Given the description of an element on the screen output the (x, y) to click on. 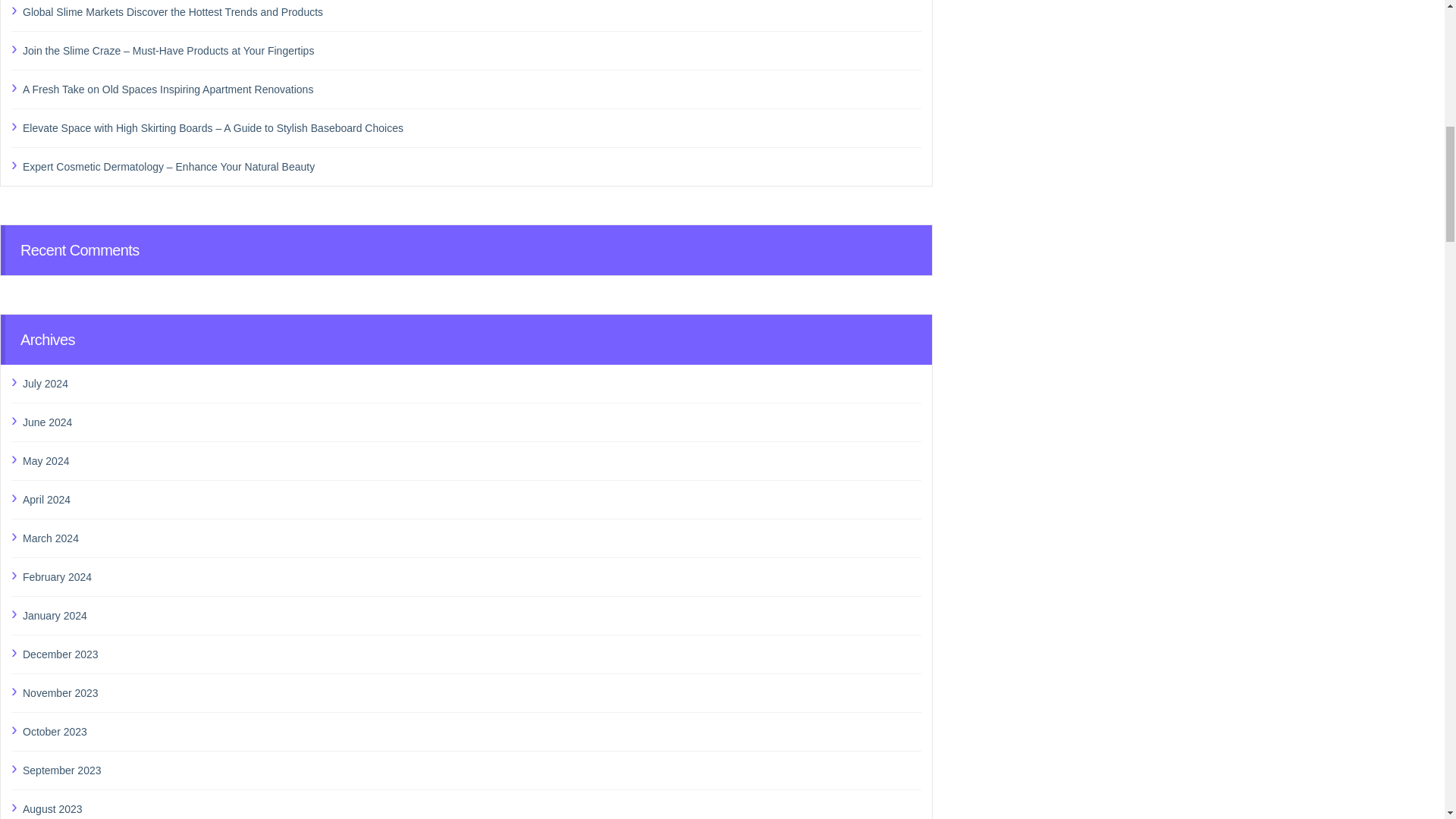
January 2024 (472, 615)
March 2024 (472, 537)
February 2024 (472, 577)
November 2023 (472, 692)
June 2024 (472, 422)
A Fresh Take on Old Spaces Inspiring Apartment Renovations (472, 89)
August 2023 (472, 809)
October 2023 (472, 731)
December 2023 (472, 654)
July 2024 (472, 383)
May 2024 (472, 460)
April 2024 (472, 499)
September 2023 (472, 770)
